Given the description of an element on the screen output the (x, y) to click on. 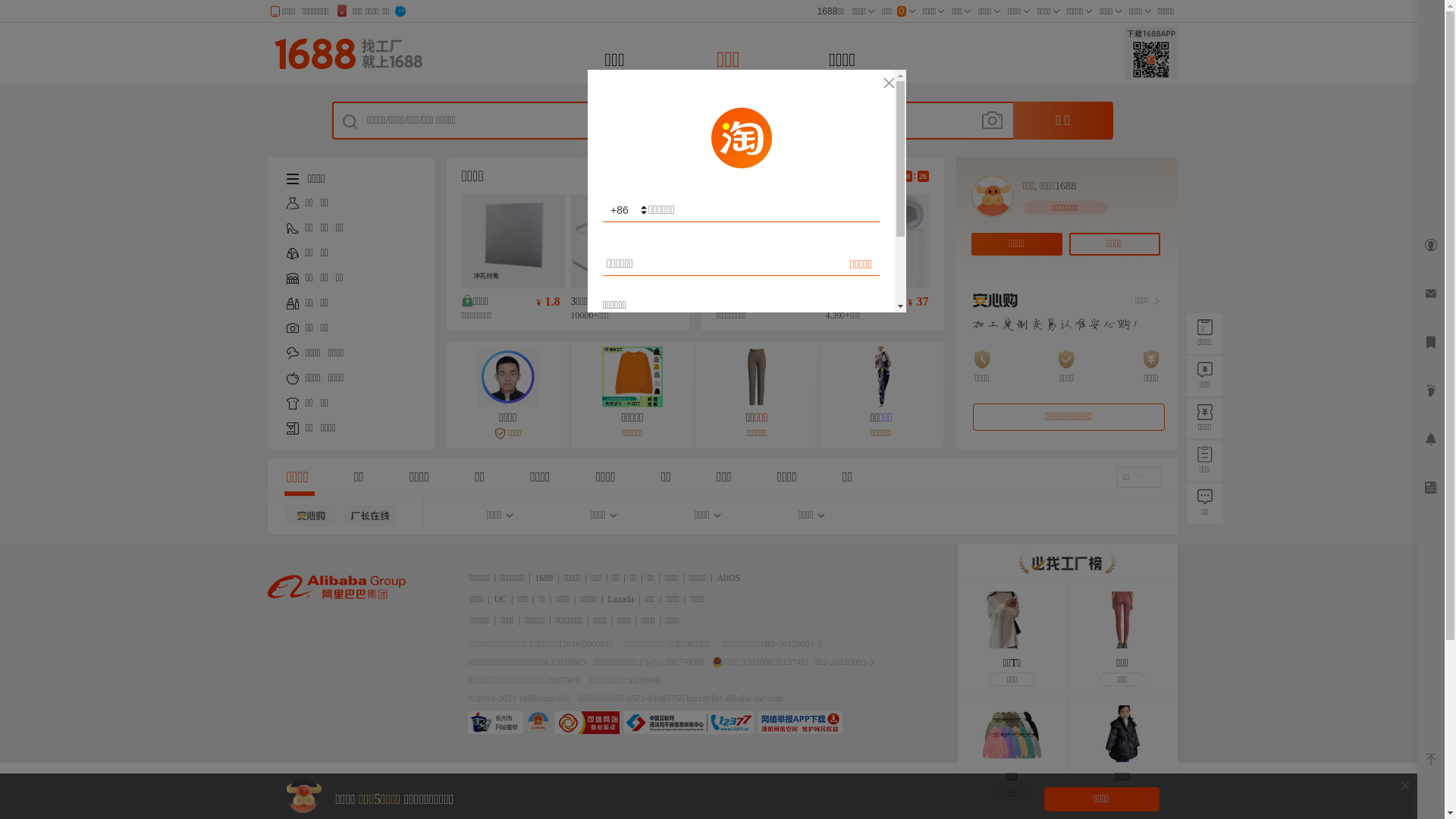
UC Element type: text (499, 598)
Lazada Element type: text (621, 598)
1688 Element type: text (543, 577)
AliOS Element type: text (728, 577)
